Given the description of an element on the screen output the (x, y) to click on. 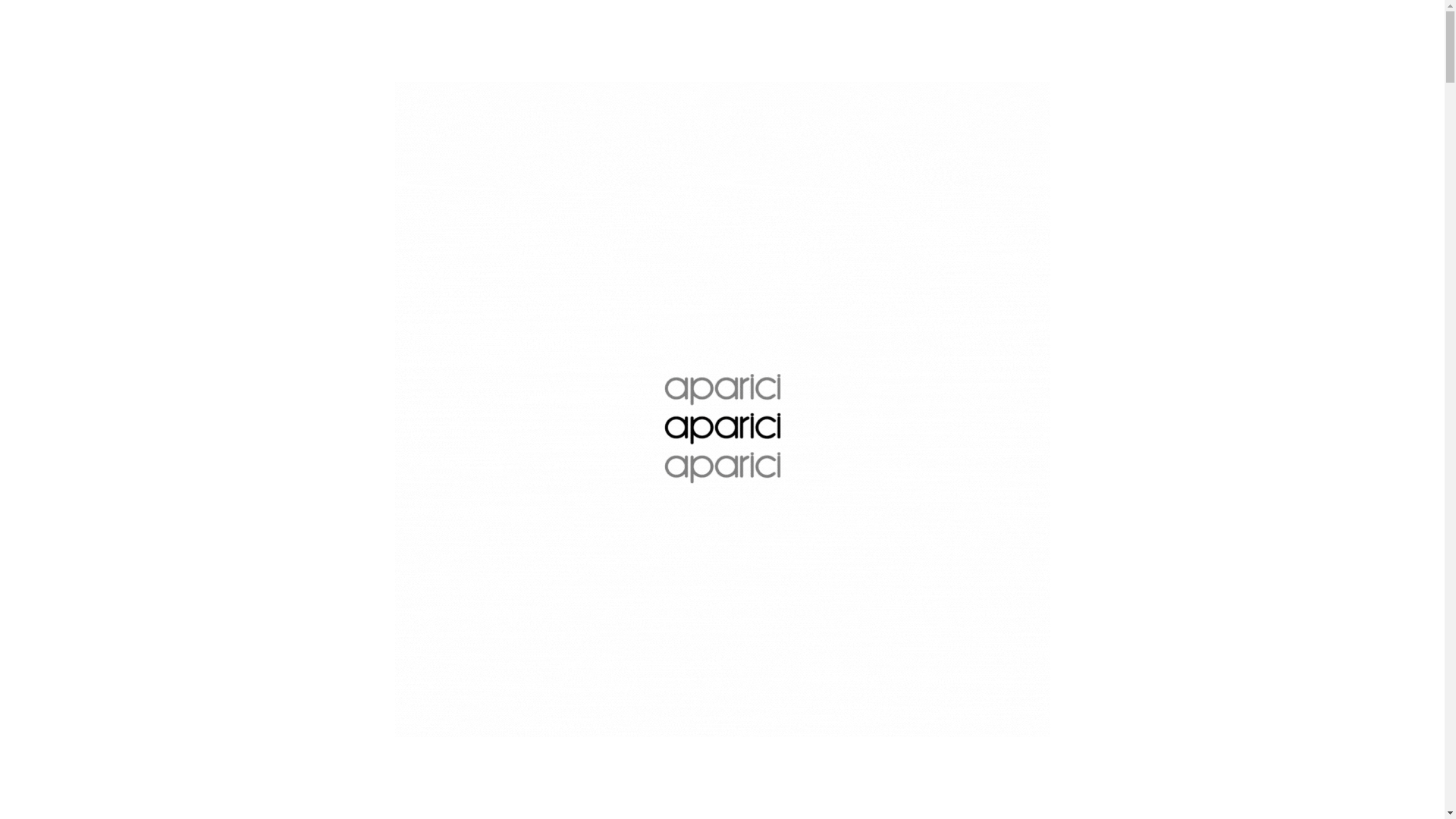
CONTACT (1320, 54)
Inspiration (692, 53)
Login (1411, 12)
Register (1377, 12)
EN (1307, 12)
3D Viewer (903, 53)
Products (490, 53)
Downloads (1069, 53)
Collections (589, 53)
Professionals (801, 53)
